Given the description of an element on the screen output the (x, y) to click on. 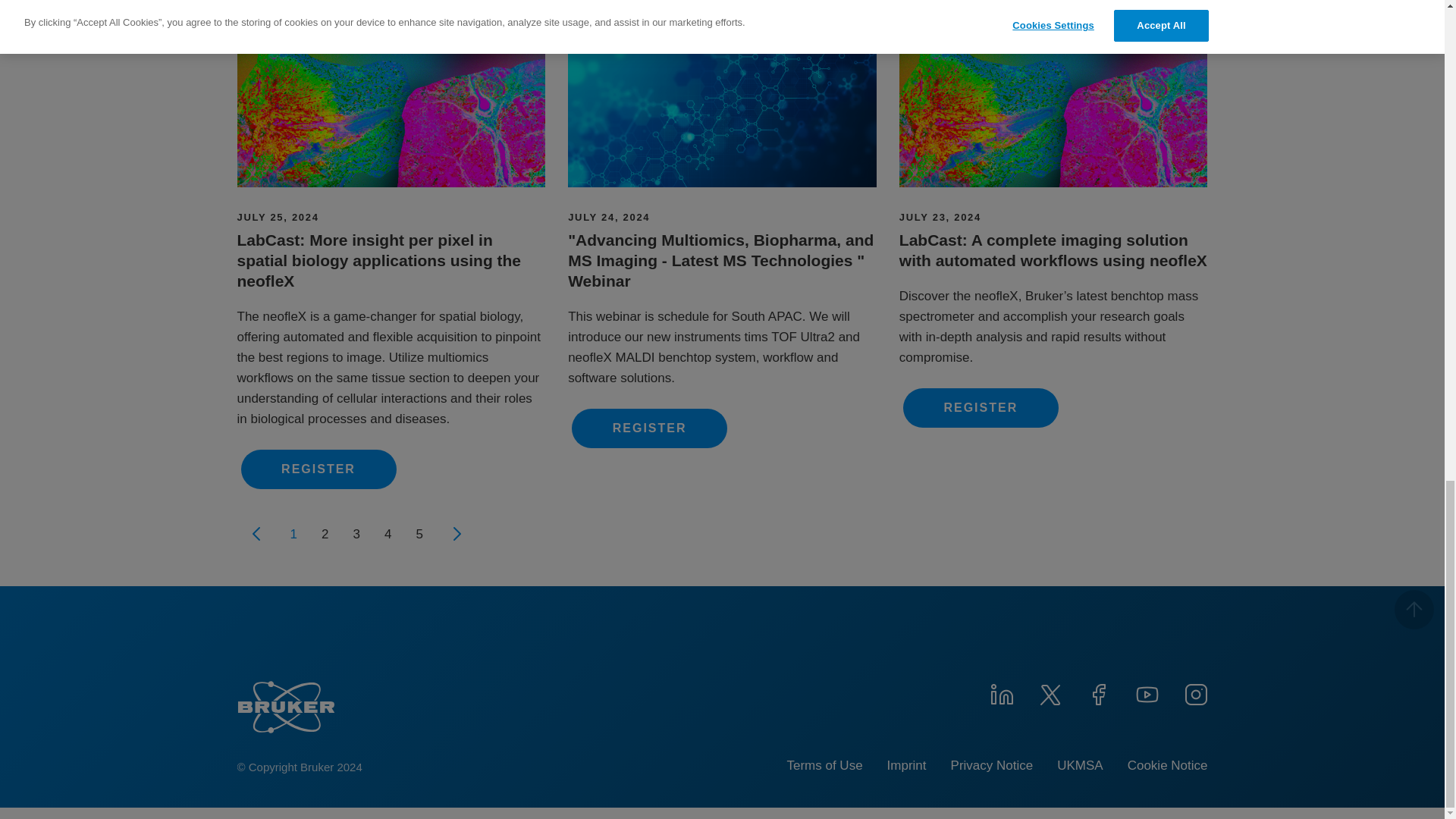
linkedin (1000, 692)
twitter (1048, 692)
youtube (1146, 692)
facebook (1097, 692)
instagram (1194, 692)
